Given the description of an element on the screen output the (x, y) to click on. 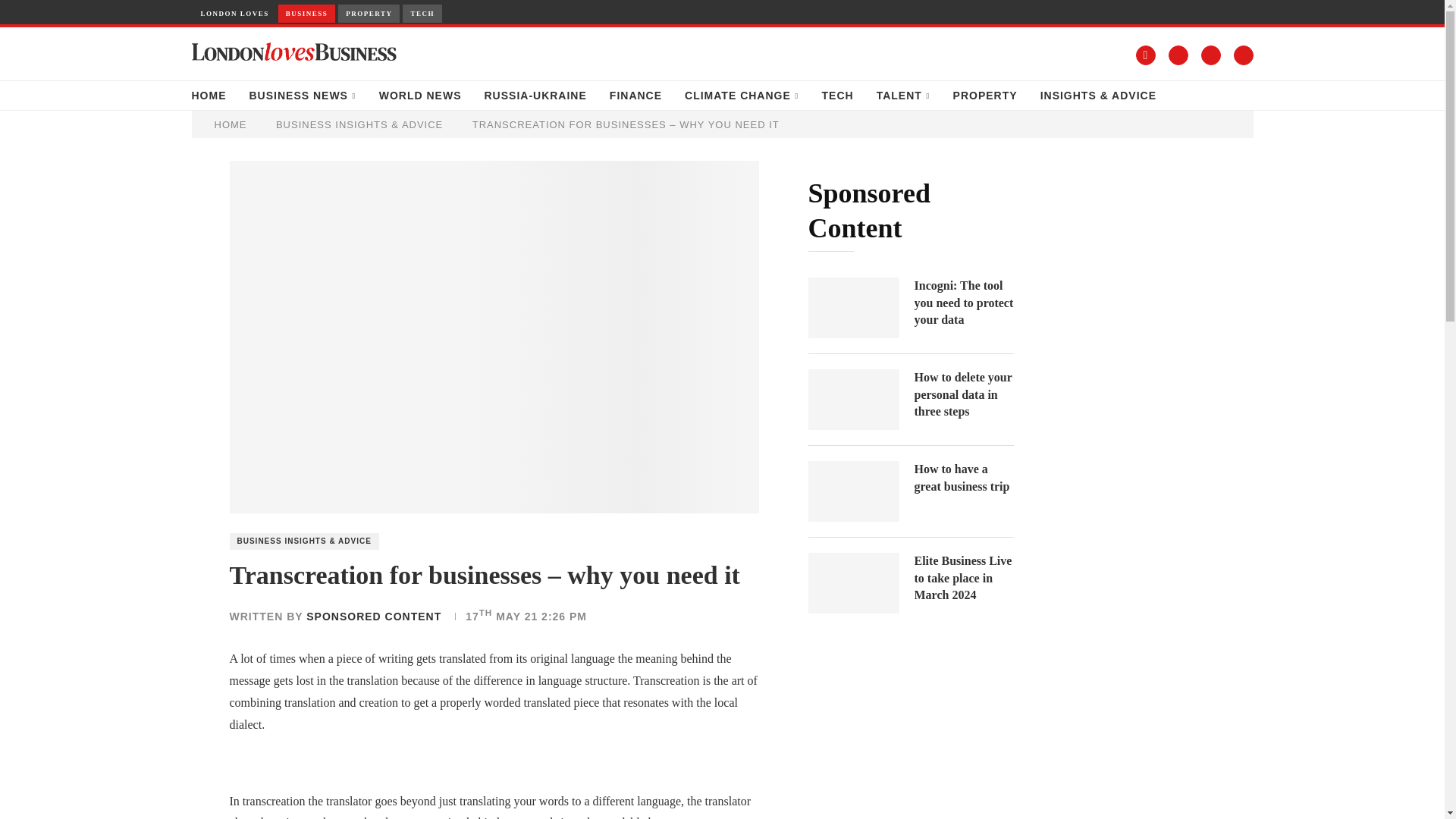
Incogni: The tool you need to protect your data (853, 307)
How to have a great business trip (853, 491)
How to have a great business trip (963, 478)
How to delete your personal data in three steps (963, 394)
Incogni: The tool you need to protect your data (963, 302)
How to delete your personal data in three steps (853, 399)
